Given the description of an element on the screen output the (x, y) to click on. 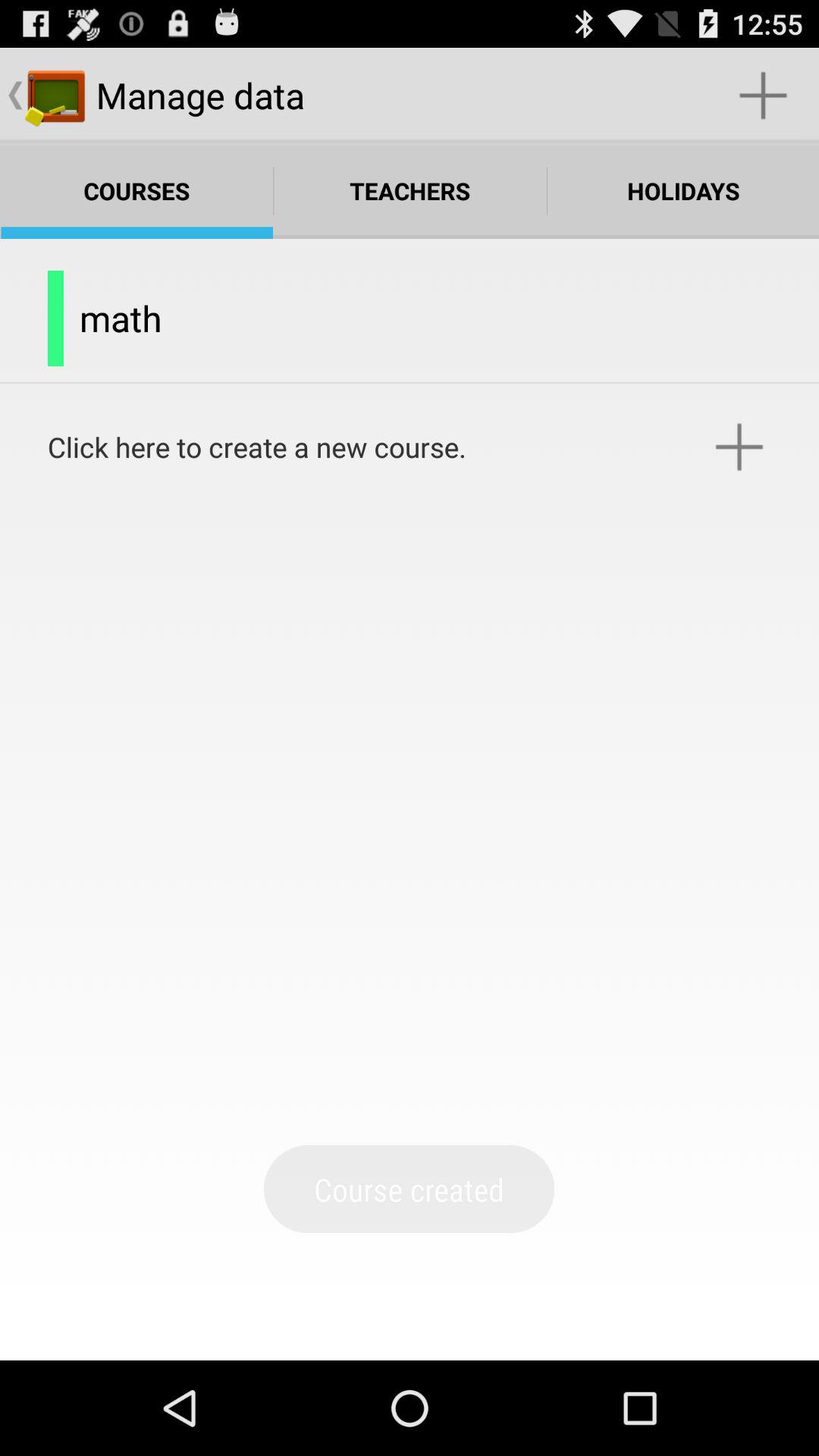
open app to the right of the manage data icon (763, 95)
